Given the description of an element on the screen output the (x, y) to click on. 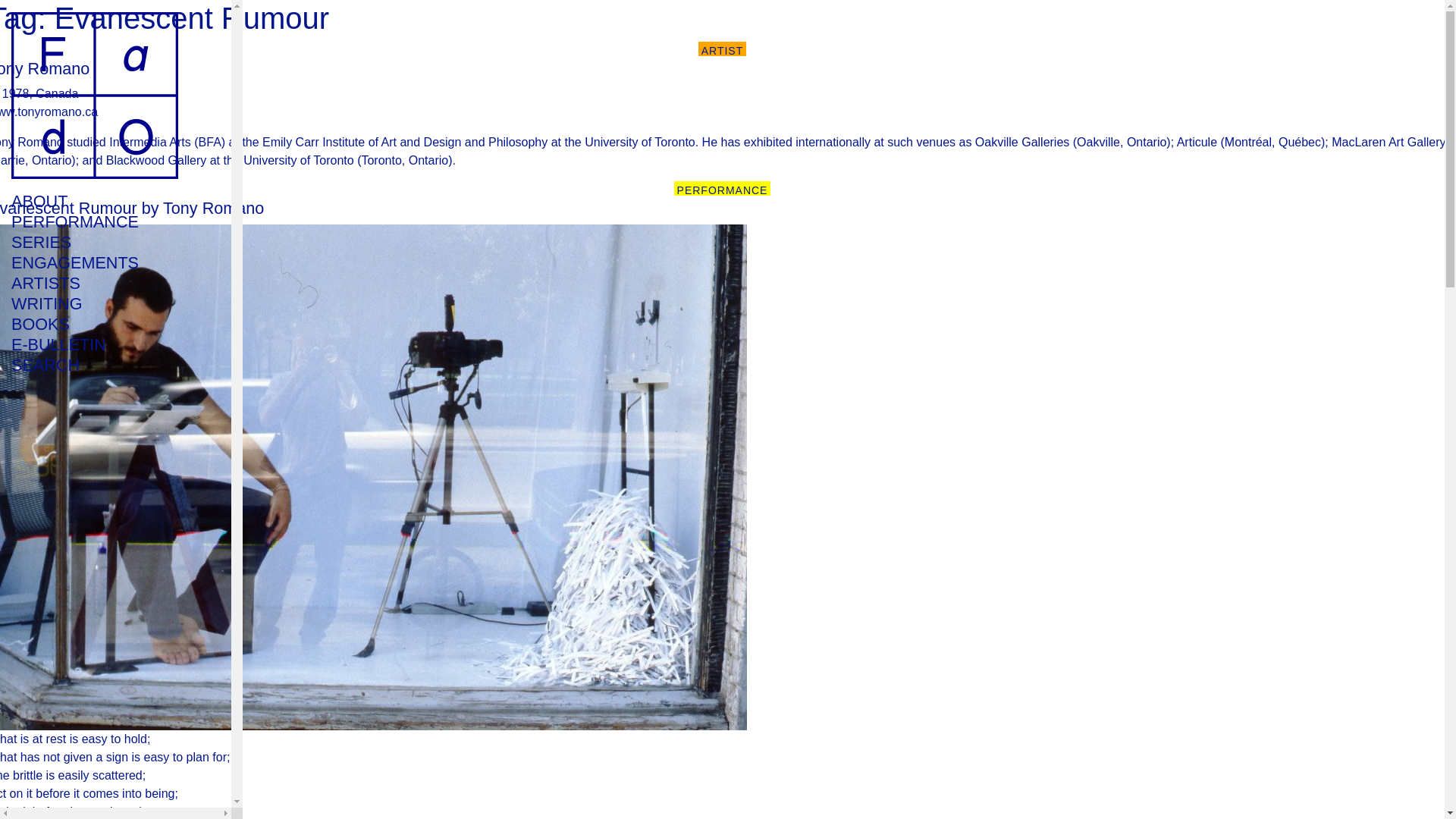
ABOUT (94, 200)
ENGAGEMENTS (94, 262)
SERIES (94, 241)
E-BULLETIN (94, 344)
Tony Romano (44, 67)
BOOKS (94, 323)
PERFORMANCE (94, 221)
WRITING (94, 303)
Evanescent Rumour by Tony Romano (131, 208)
www.tonyromano.ca (48, 111)
